Given the description of an element on the screen output the (x, y) to click on. 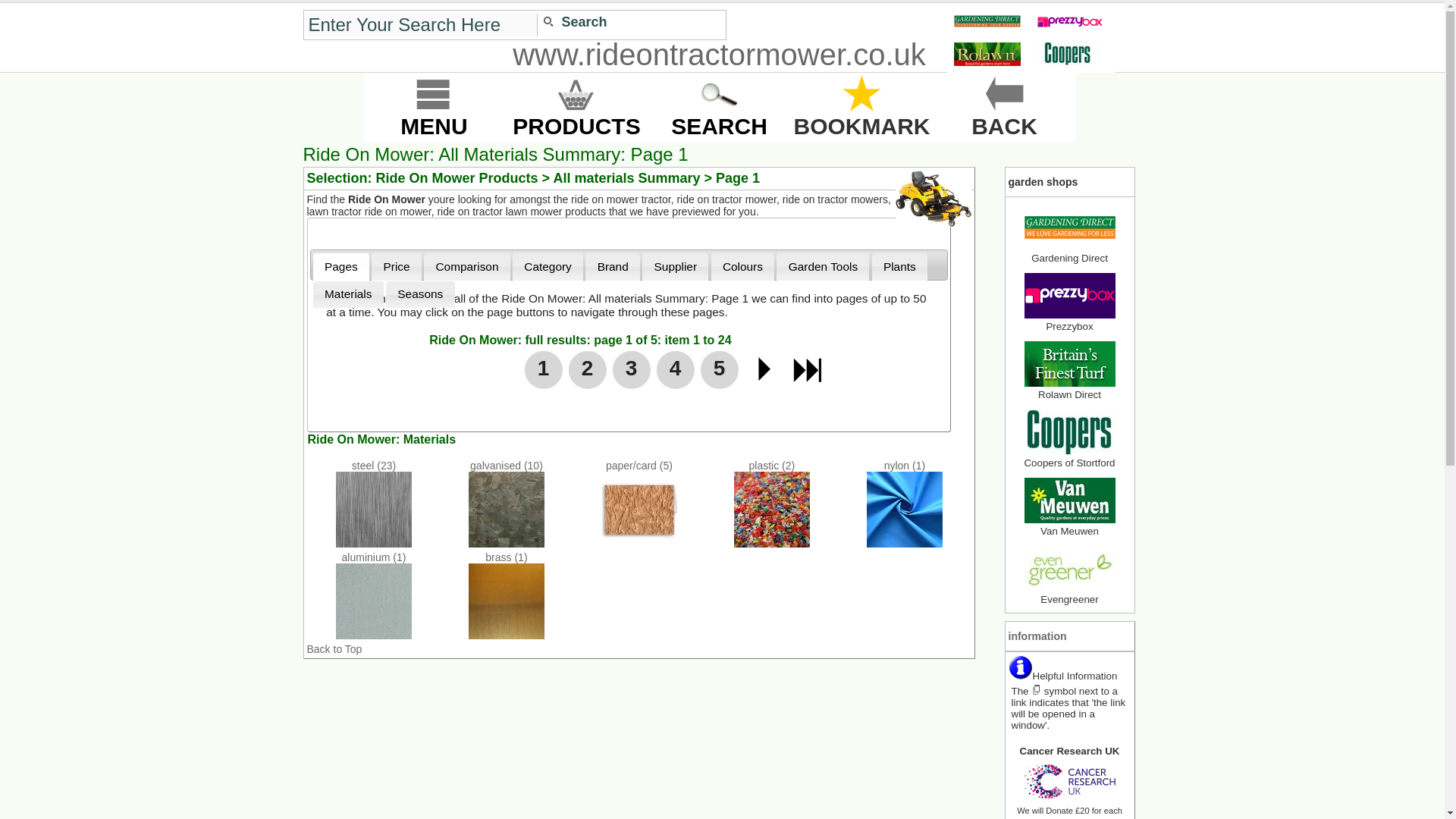
Price (396, 266)
BOOKMARK (861, 107)
Enter Your Search Here (421, 24)
MENU (433, 107)
SEARCH (719, 107)
Category (547, 266)
Colours (742, 266)
Comparison (467, 266)
BACK (1003, 107)
Search (577, 22)
PRODUCTS (576, 107)
Ride On Mower (933, 198)
Search (577, 22)
Plants (900, 266)
Pages (341, 266)
